Given the description of an element on the screen output the (x, y) to click on. 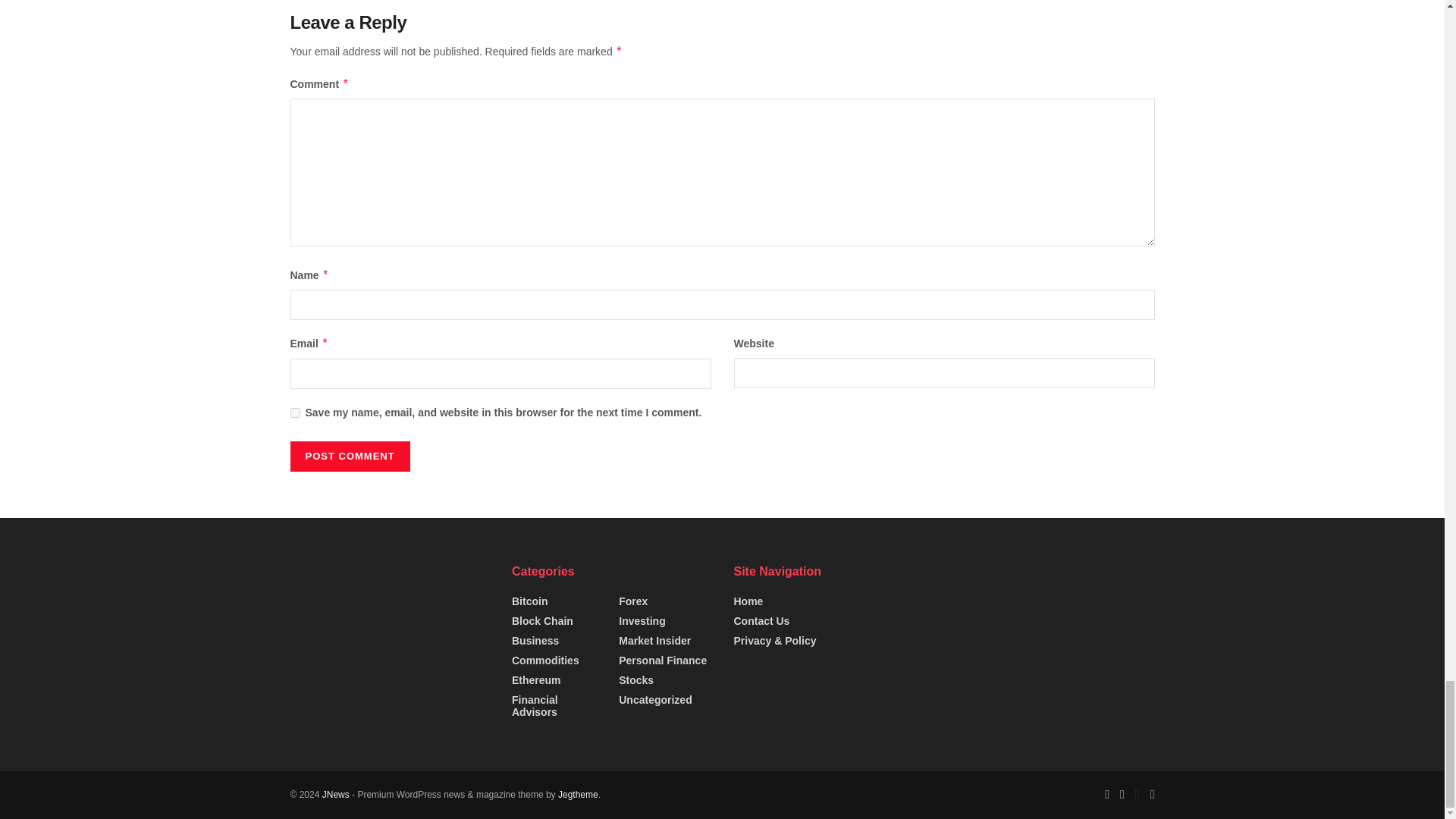
Jegtheme (577, 794)
Post Comment (349, 456)
yes (294, 412)
